Given the description of an element on the screen output the (x, y) to click on. 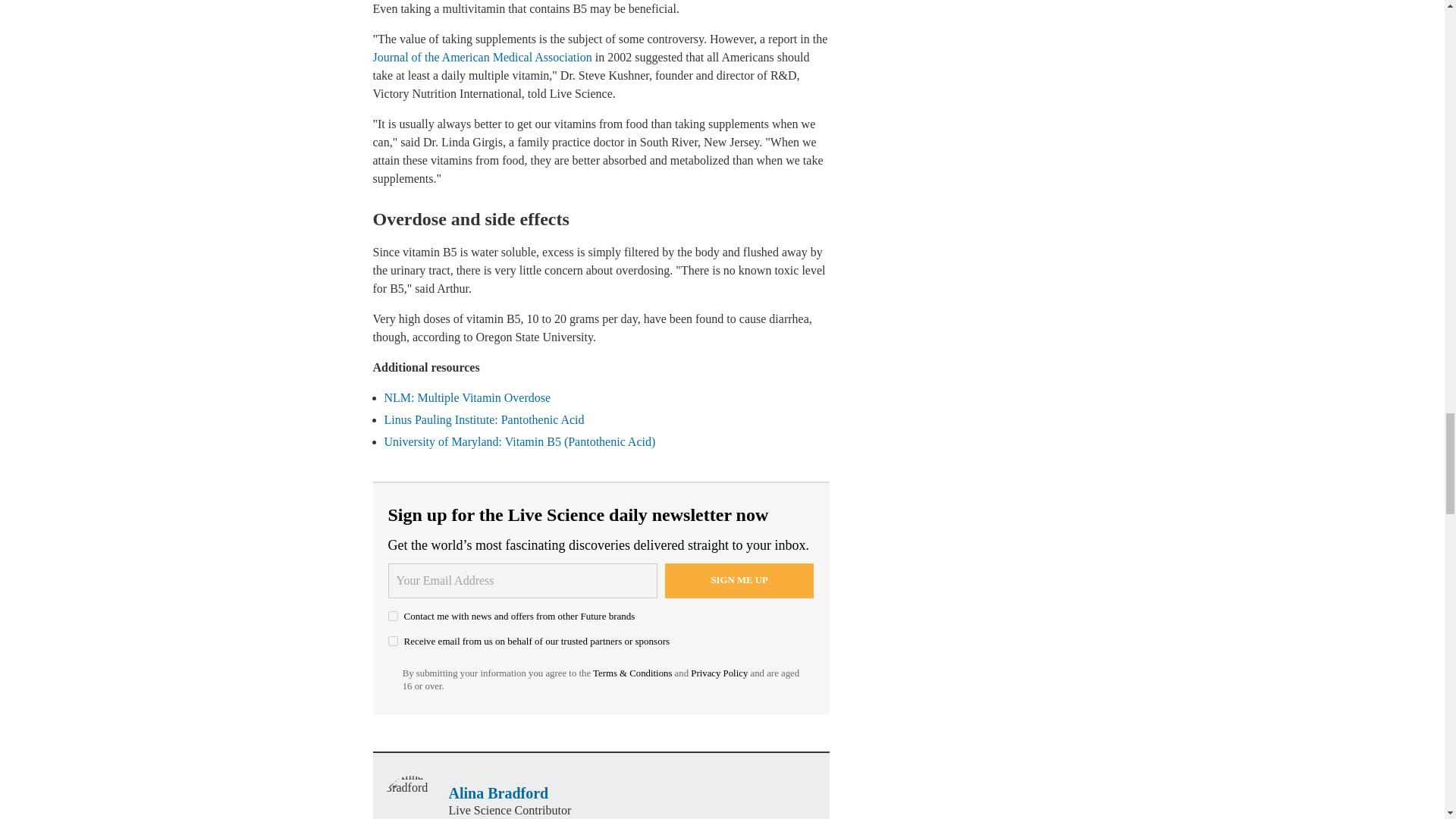
Sign me up (739, 580)
on (392, 615)
on (392, 641)
